Given the description of an element on the screen output the (x, y) to click on. 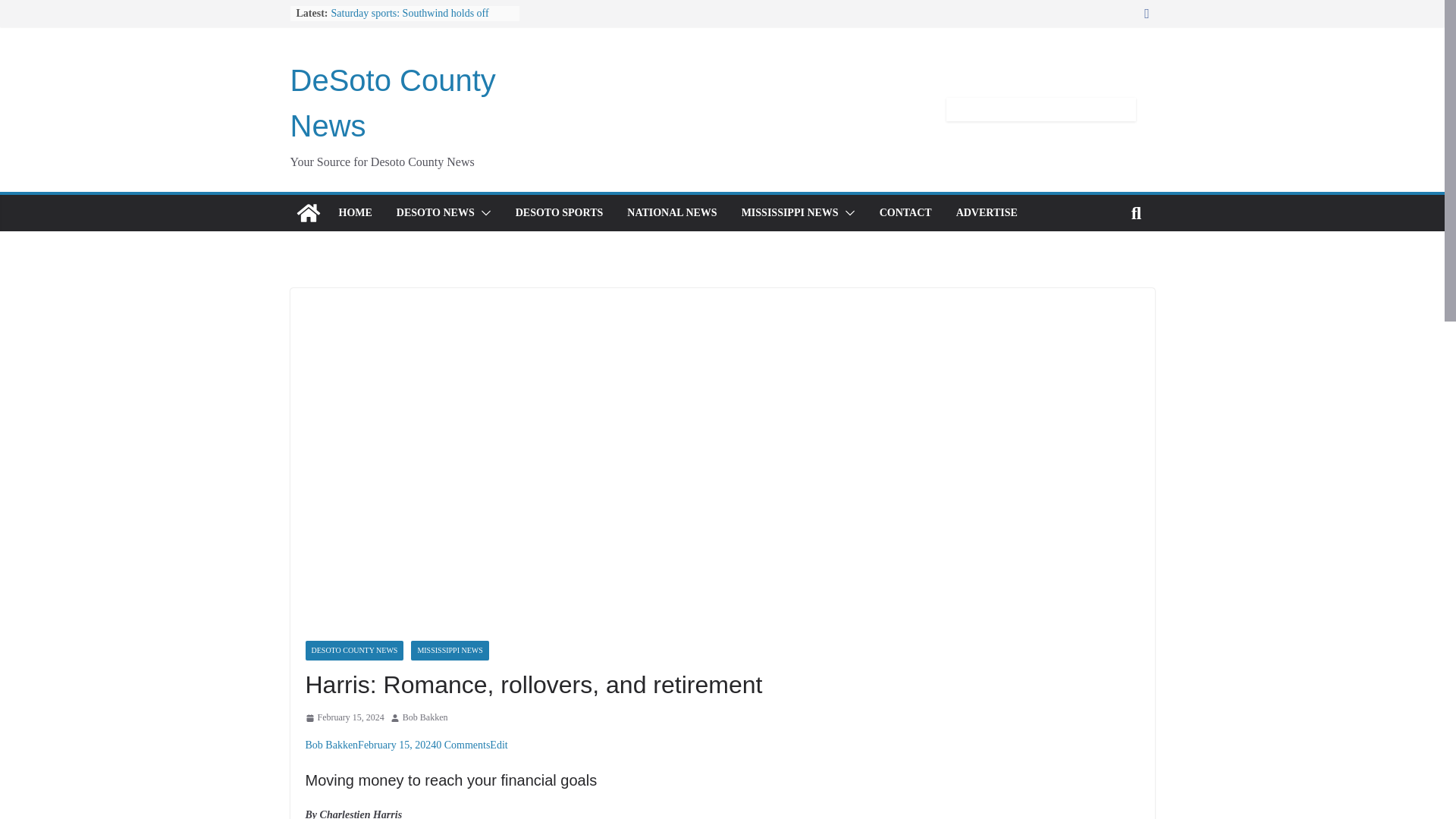
DeSoto County News (307, 212)
MISSISSIPPI NEWS (789, 212)
6:16 pm (344, 718)
DESOTO COUNTY NEWS (353, 650)
Bob Bakken (425, 718)
NATIONAL NEWS (671, 212)
DeSoto County News (392, 102)
CONTACT (905, 212)
ADVERTISE (986, 212)
